Given the description of an element on the screen output the (x, y) to click on. 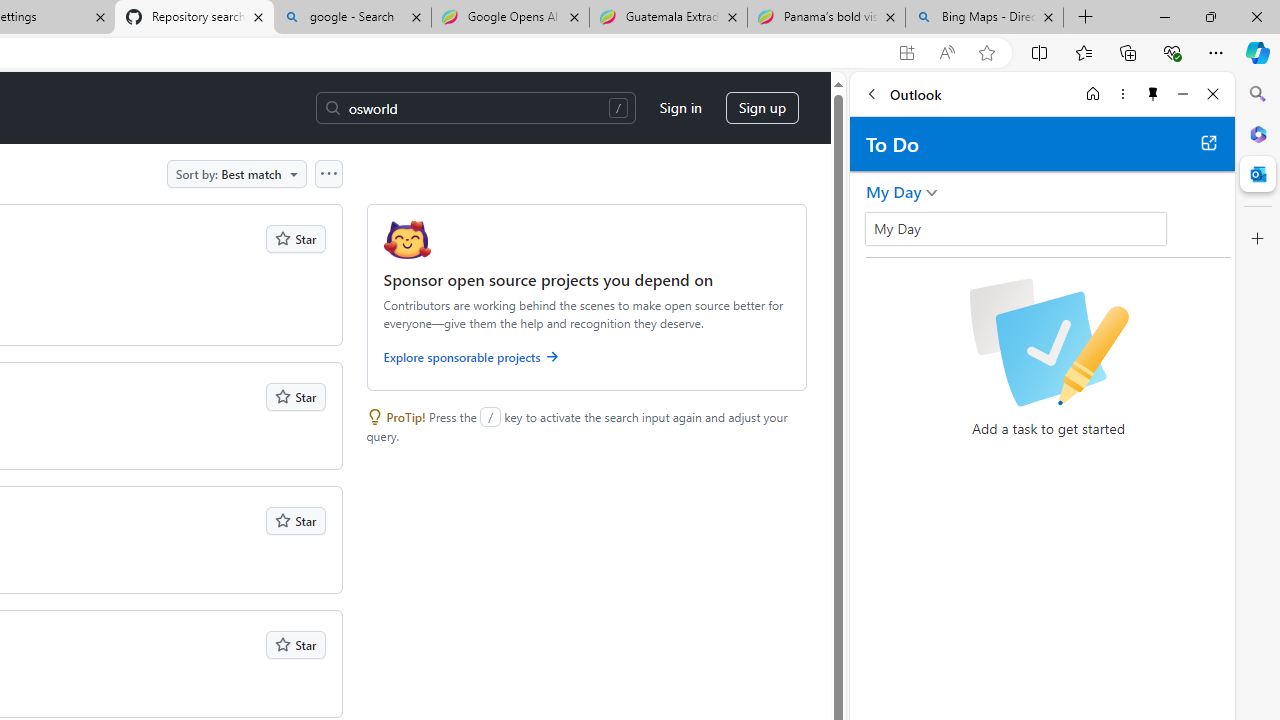
Star (296, 644)
Add a task (881, 235)
Package icon (406, 240)
My Day (893, 191)
Add a task (1065, 235)
Sign up (761, 107)
My Day (1016, 228)
